Given the description of an element on the screen output the (x, y) to click on. 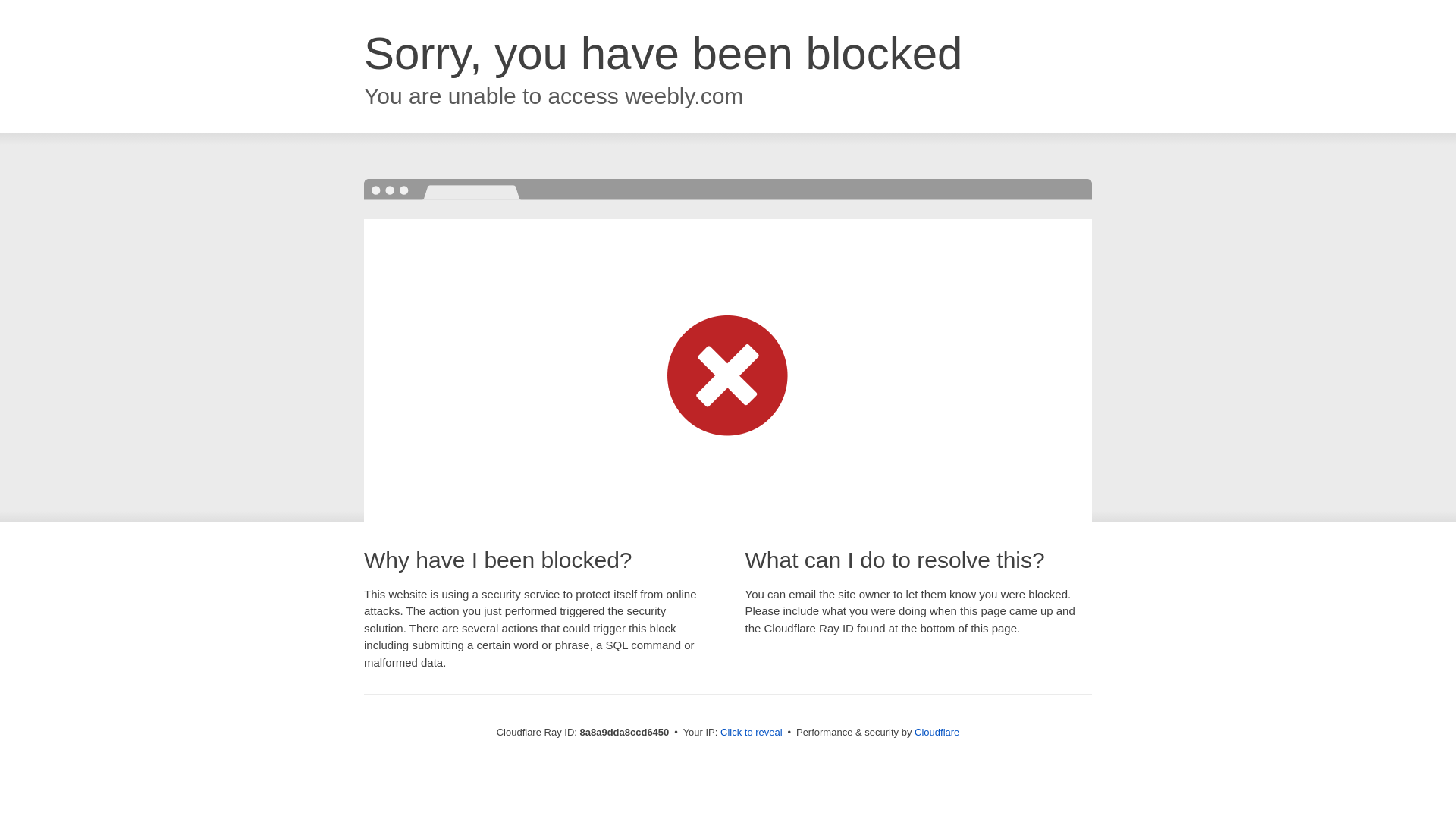
Cloudflare (936, 731)
Click to reveal (751, 732)
